Given the description of an element on the screen output the (x, y) to click on. 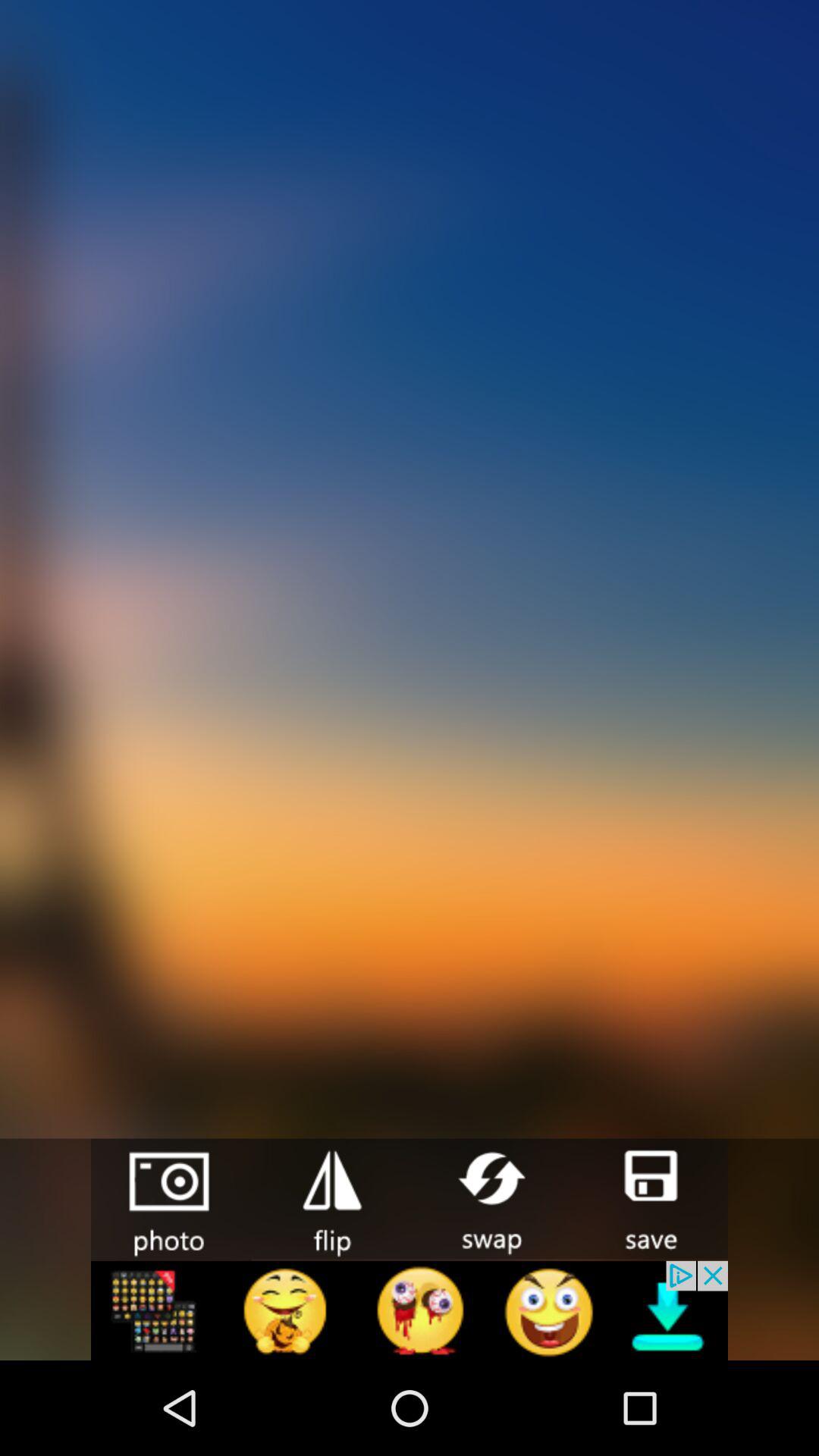
take a picture (171, 1199)
